Given the description of an element on the screen output the (x, y) to click on. 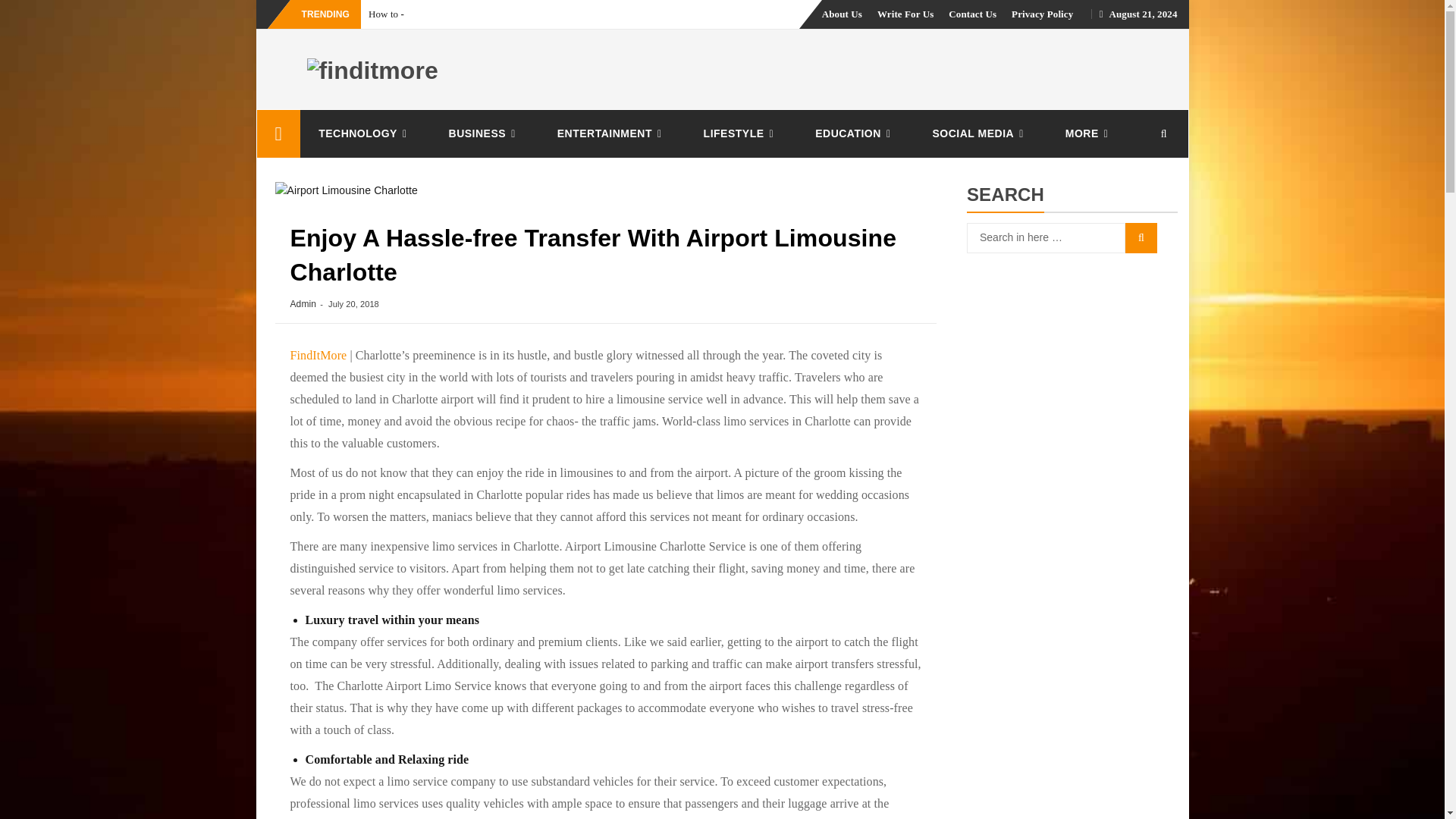
Contact Us (972, 13)
Search for: (1045, 237)
How to (384, 13)
LIFESTYLE (741, 133)
BUSINESS (484, 133)
ENTERTAINMENT (611, 133)
Search (1141, 237)
TECHNOLOGY (364, 133)
Privacy Policy (1042, 13)
